Given the description of an element on the screen output the (x, y) to click on. 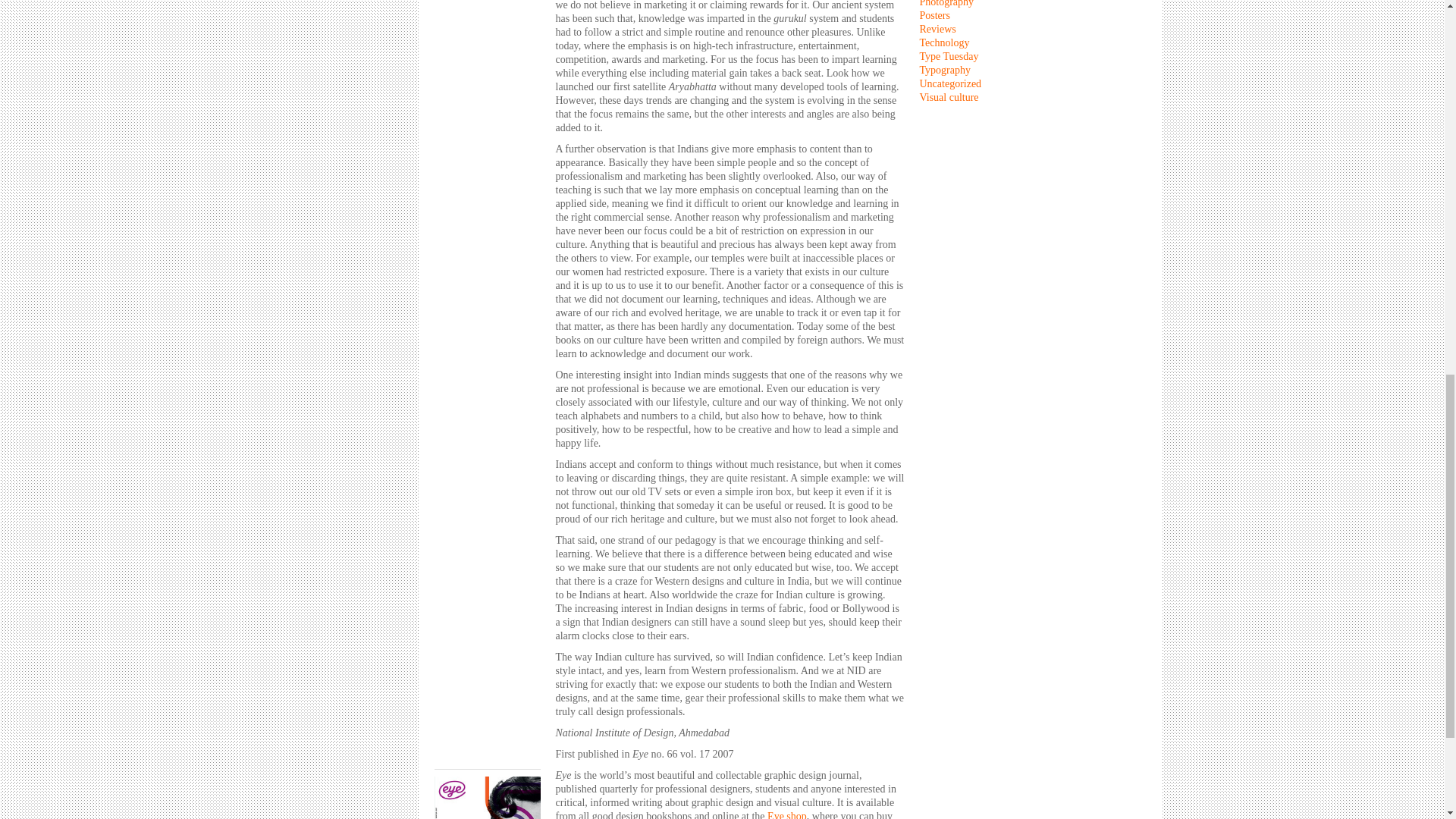
Eye shop (786, 814)
Photography (946, 3)
